Given the description of an element on the screen output the (x, y) to click on. 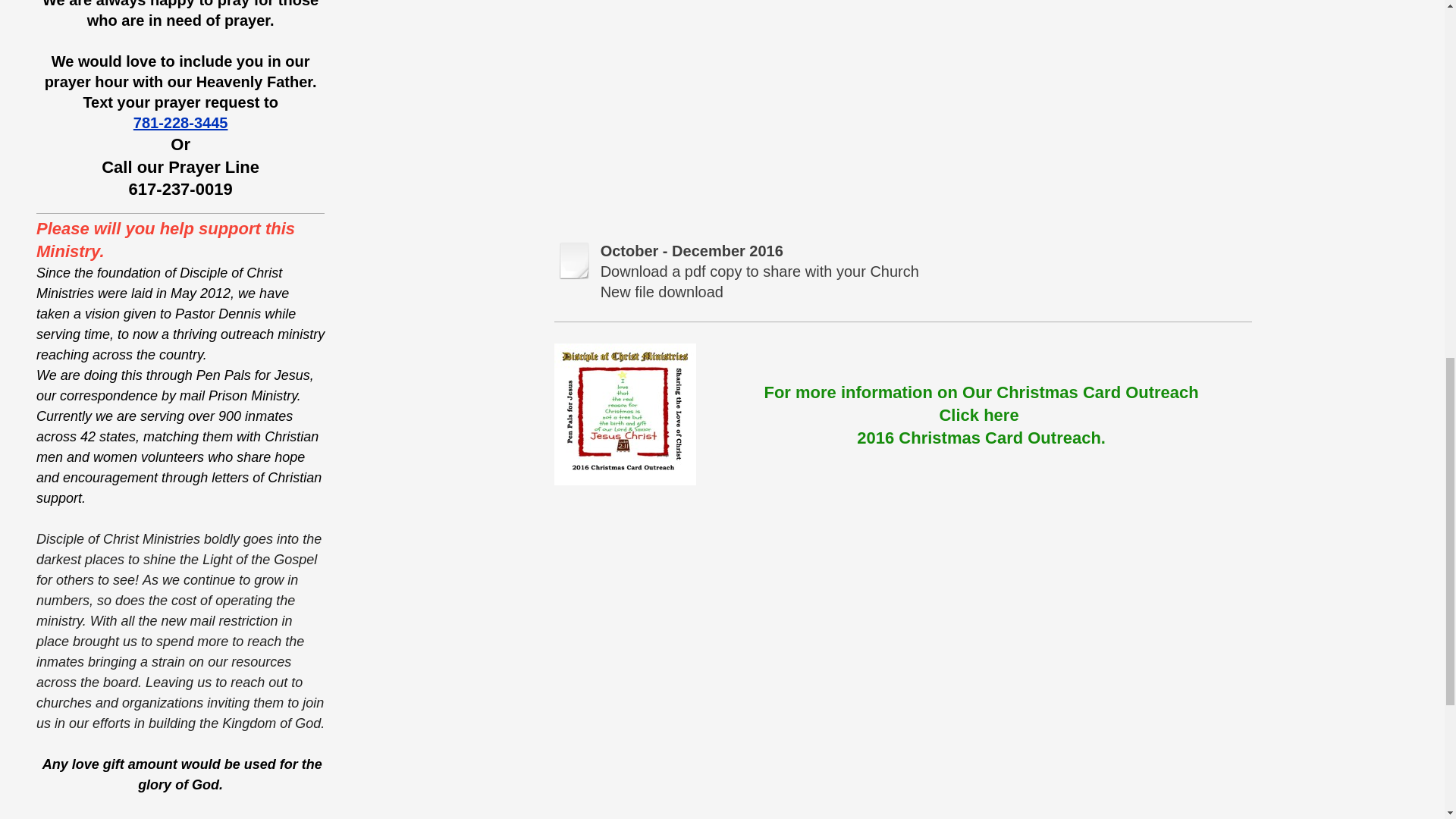
Call with Google Voice (180, 189)
